Given the description of an element on the screen output the (x, y) to click on. 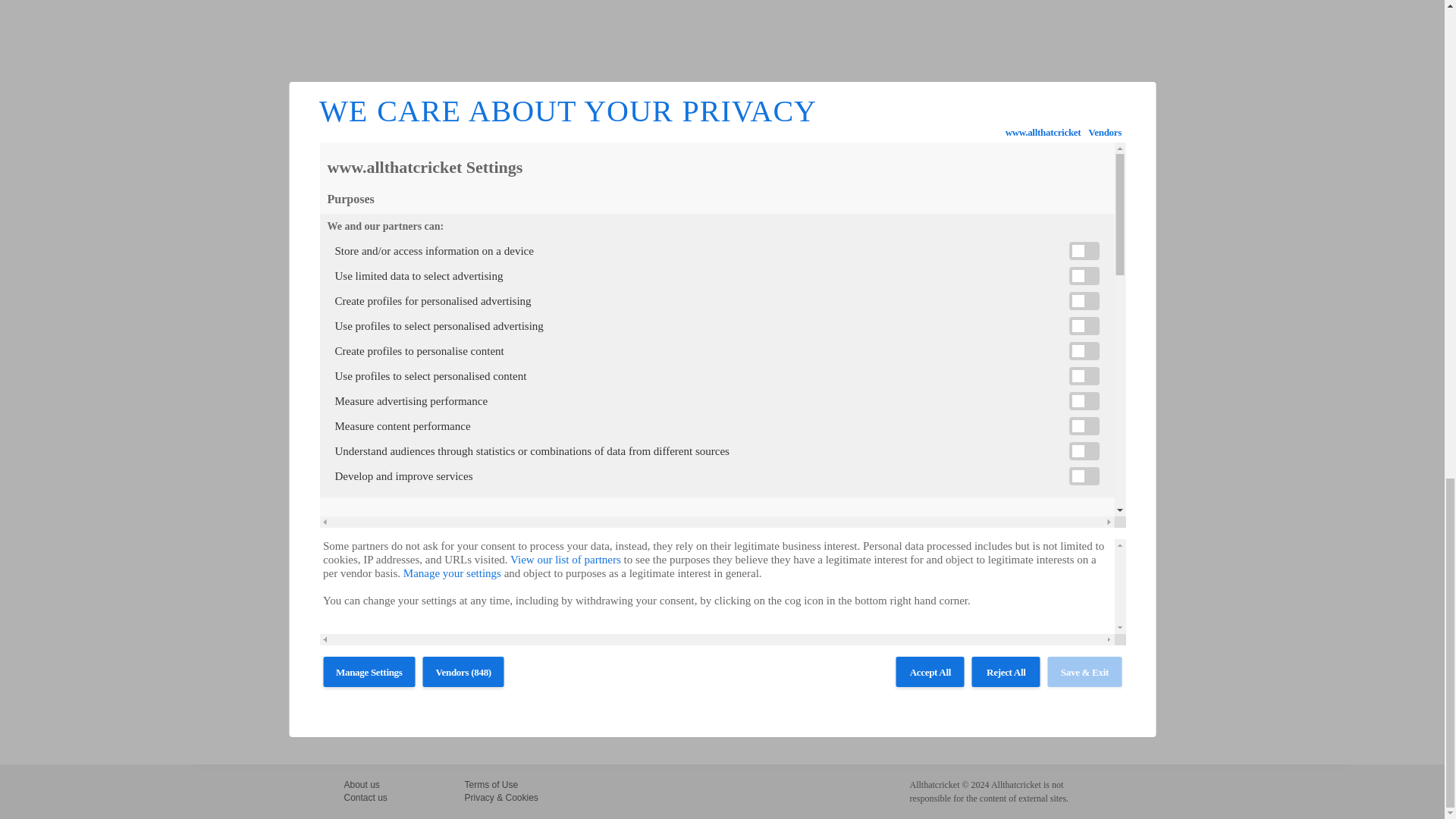
Post Comment (388, 715)
Leave your comment (386, 294)
Terms of Use (491, 784)
LinkedIn (392, 247)
LinkedIn (392, 247)
Twitter (374, 247)
yes (616, 672)
Facebook (356, 247)
WhatsApp (410, 247)
WhatsApp (410, 247)
Post Comment (388, 715)
Contact us (365, 797)
Facebook (356, 247)
About us (361, 784)
Twitter (374, 247)
